Given the description of an element on the screen output the (x, y) to click on. 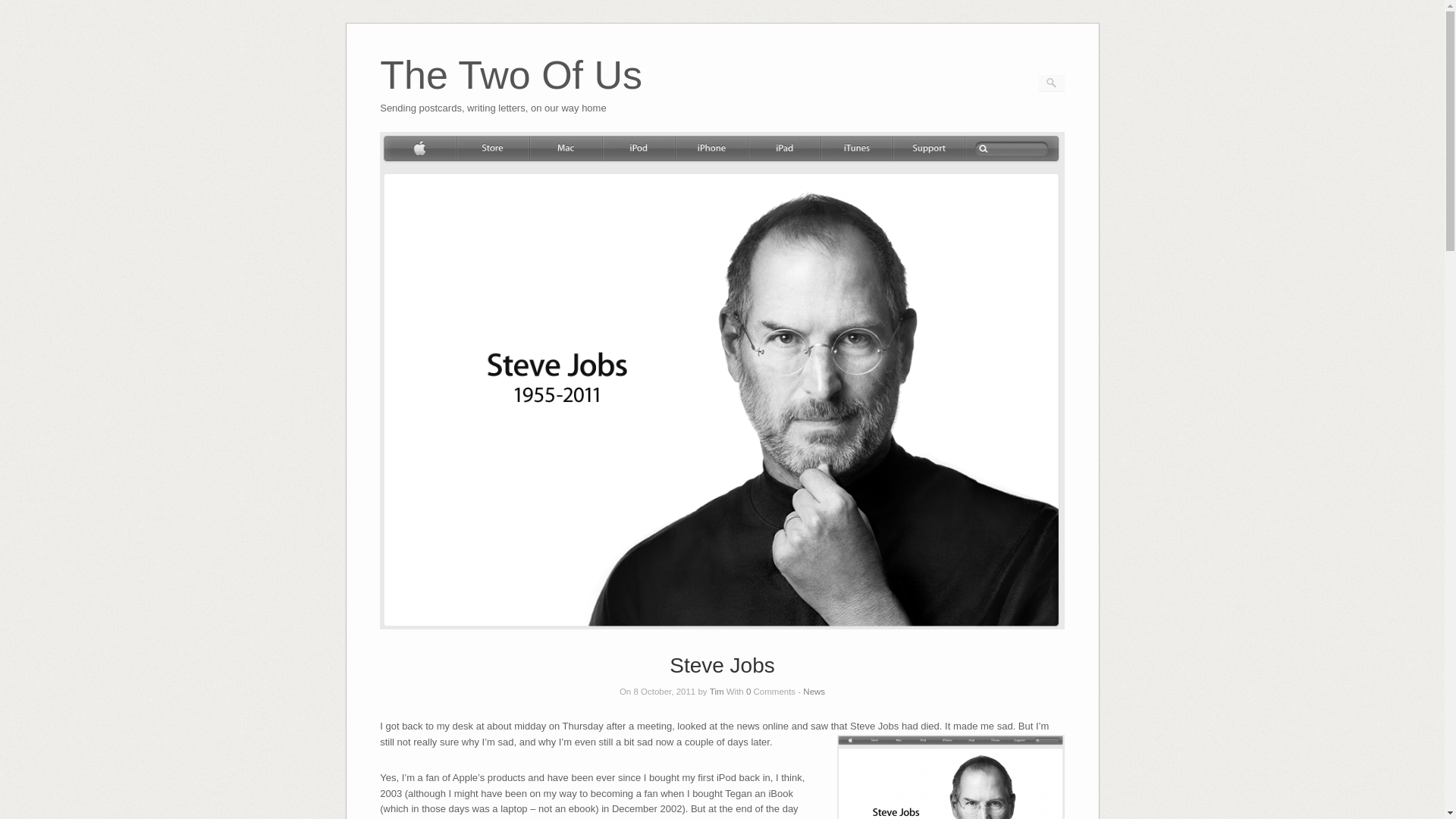
Sending postcards, writing letters, on our way home (511, 96)
News (814, 691)
Search (21, 7)
Tim (716, 691)
Screen Shot 2011-10-06 at 6.46.39 PM (950, 776)
